Given the description of an element on the screen output the (x, y) to click on. 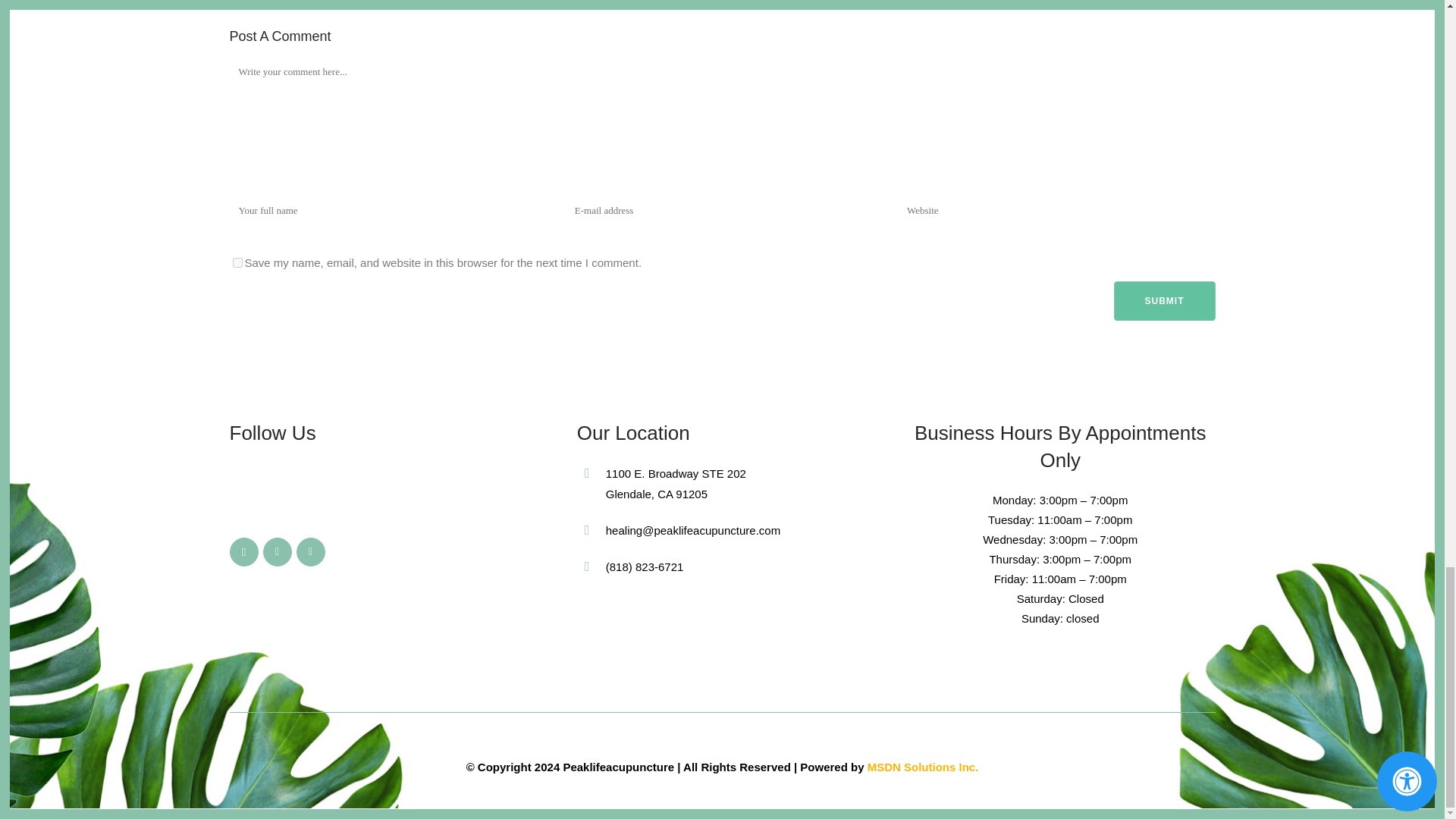
yes (236, 262)
Submit (1163, 301)
Submit (1163, 301)
